Given the description of an element on the screen output the (x, y) to click on. 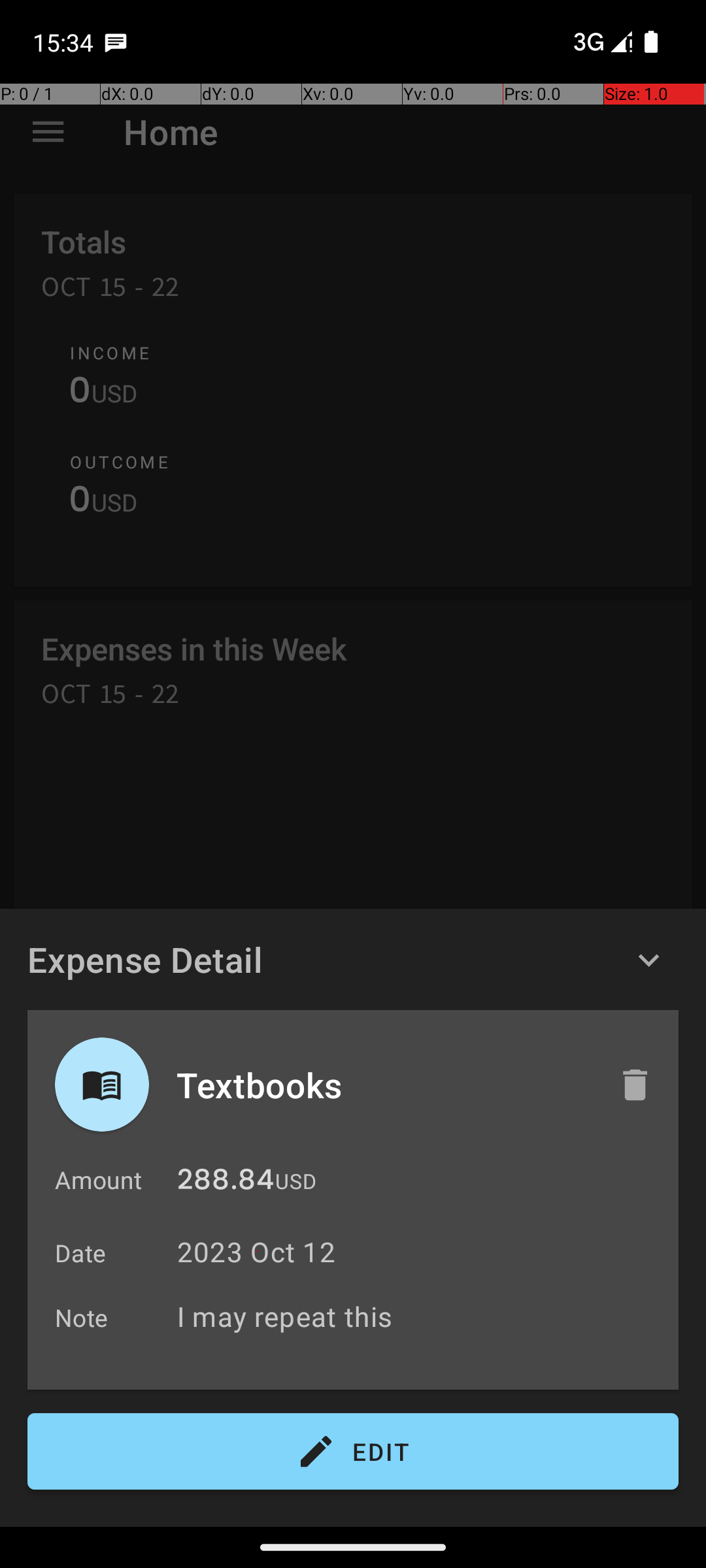
Textbooks Element type: android.widget.TextView (383, 1084)
288.84 Element type: android.widget.TextView (225, 1182)
